Given the description of an element on the screen output the (x, y) to click on. 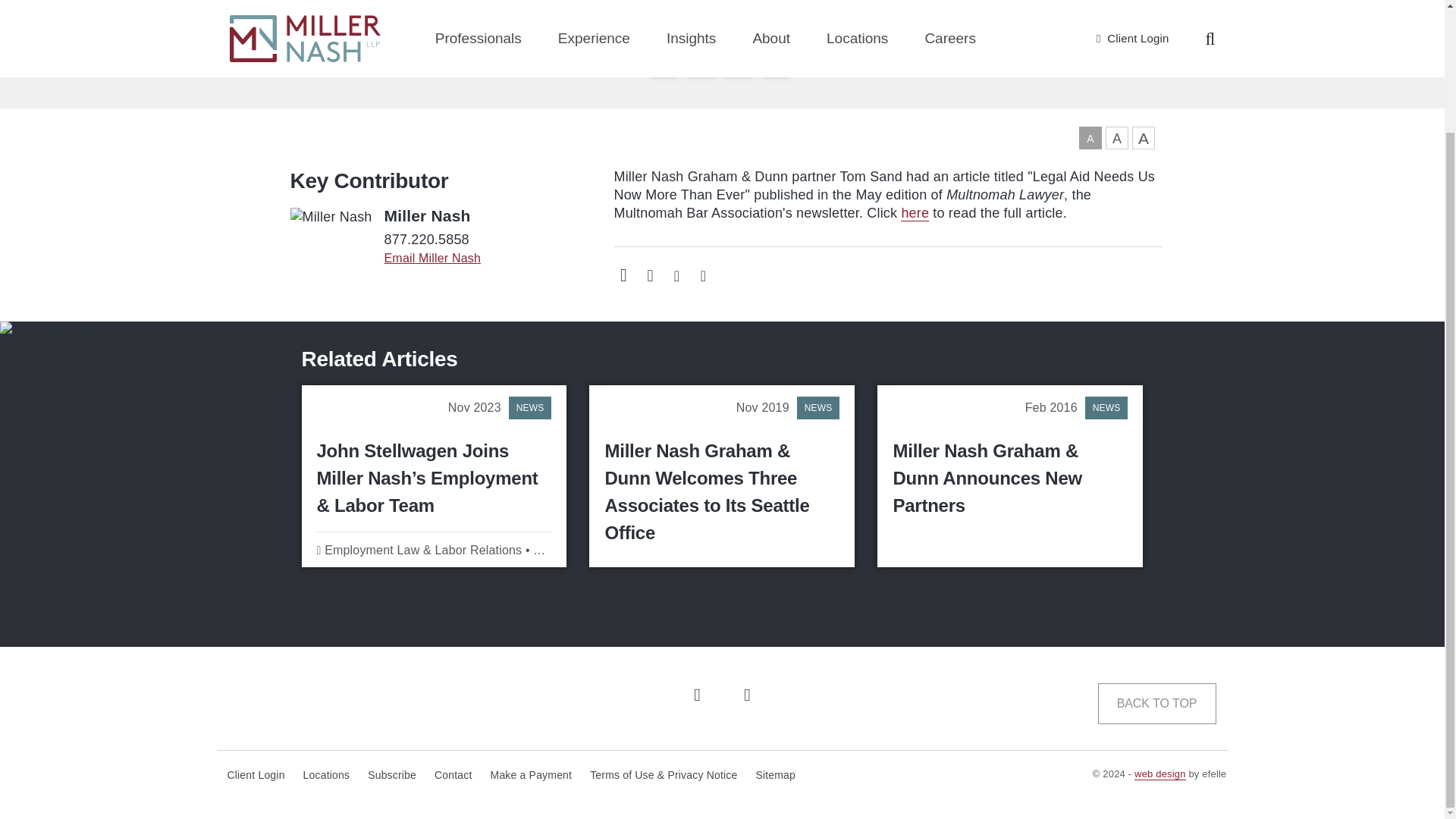
More Sharing Options (701, 57)
Share via LinkedIn (738, 57)
News (818, 407)
News (529, 407)
Share via Twitter (702, 274)
Share via LinkedIn (675, 274)
More Sharing Options (649, 274)
Adjust Text Size - Larger (1116, 137)
Share via Email (664, 57)
law firm web design (1160, 774)
